Given the description of an element on the screen output the (x, y) to click on. 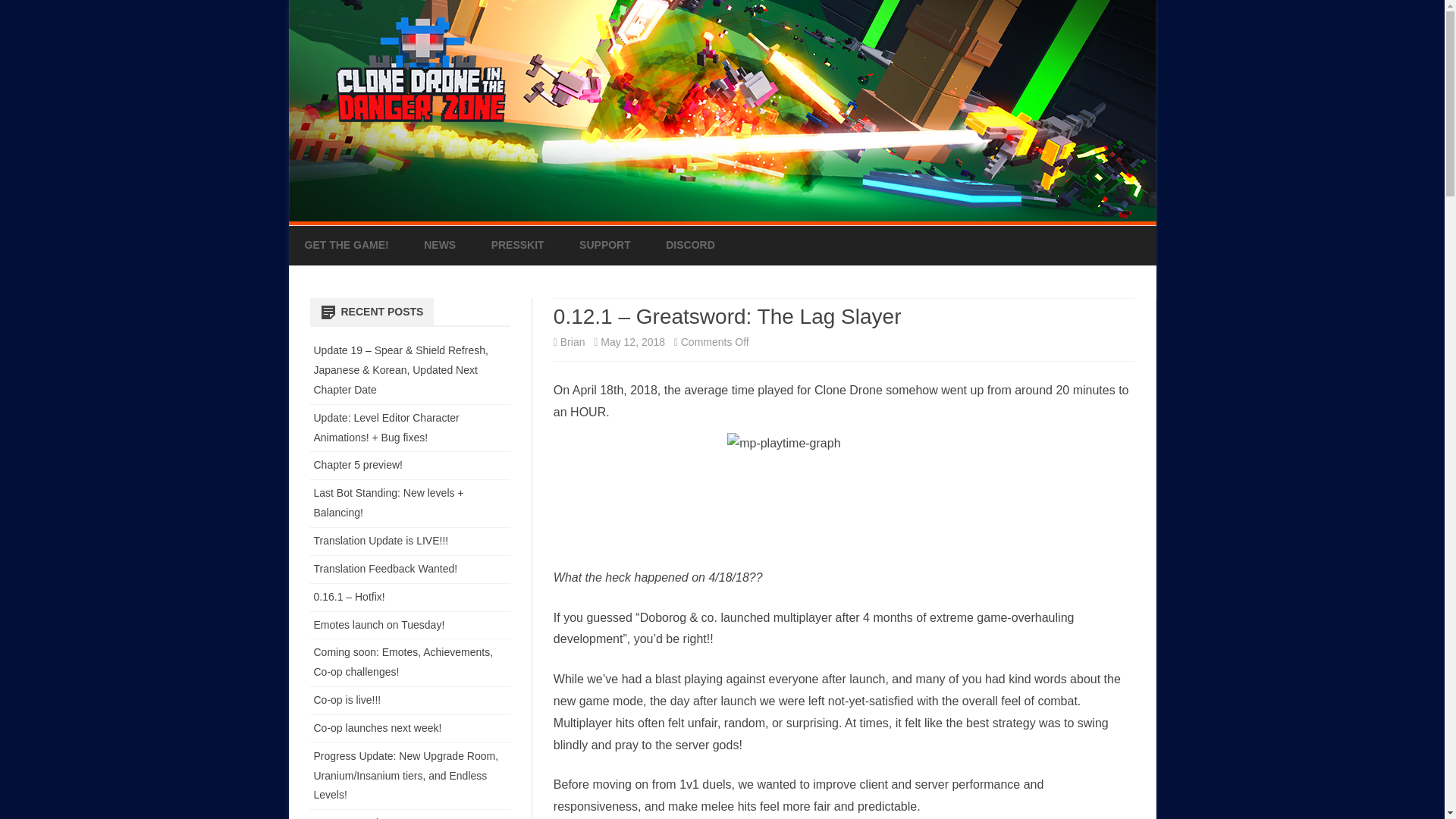
PRESSKIT (518, 245)
SUPPORT (604, 245)
Translation Feedback Wanted! (386, 568)
Emotes launch on Tuesday! (379, 624)
Co-op is live!!! (347, 699)
Co-op launches next week! (378, 727)
Coming soon: Emotes, Achievements, Co-op challenges! (403, 662)
GET THE GAME! (346, 245)
